Given the description of an element on the screen output the (x, y) to click on. 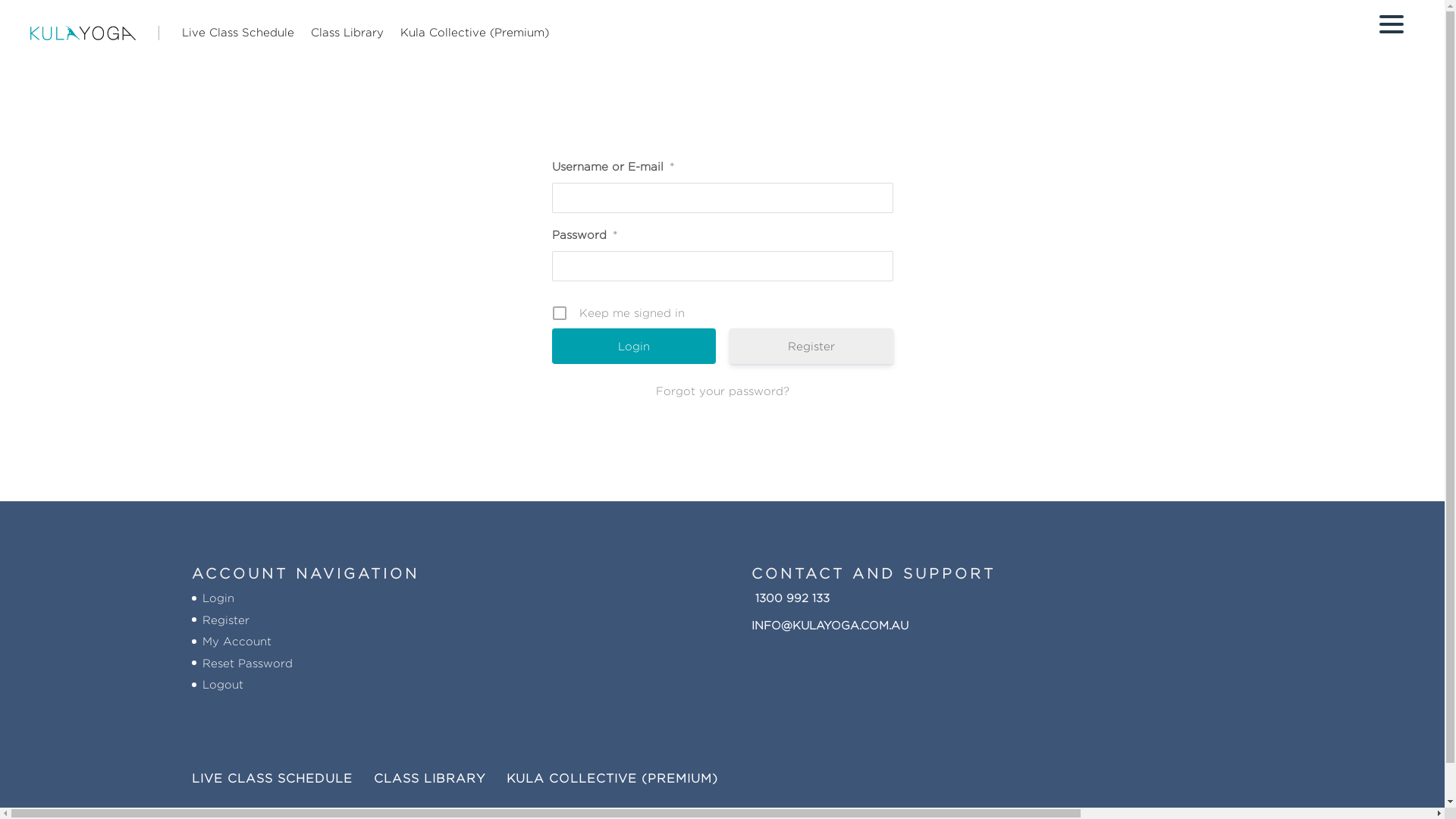
Register Element type: text (811, 346)
Logout Element type: text (221, 684)
Kula Collective (Premium) Element type: text (474, 32)
Class Library Element type: text (346, 32)
Login Element type: text (633, 346)
LIVE CLASS SCHEDULE Element type: text (271, 777)
Register Element type: text (224, 619)
KULA COLLECTIVE (PREMIUM) Element type: text (612, 777)
CLASS LIBRARY Element type: text (428, 777)
Forgot your password? Element type: text (722, 390)
Live Class Schedule Element type: text (238, 32)
INFO@KULAYOGA.COM.AU Element type: text (829, 624)
Login Element type: text (217, 597)
Reset Password Element type: text (246, 662)
My Account Element type: text (235, 640)
 1300 992 133 Element type: text (790, 597)
